Given the description of an element on the screen output the (x, y) to click on. 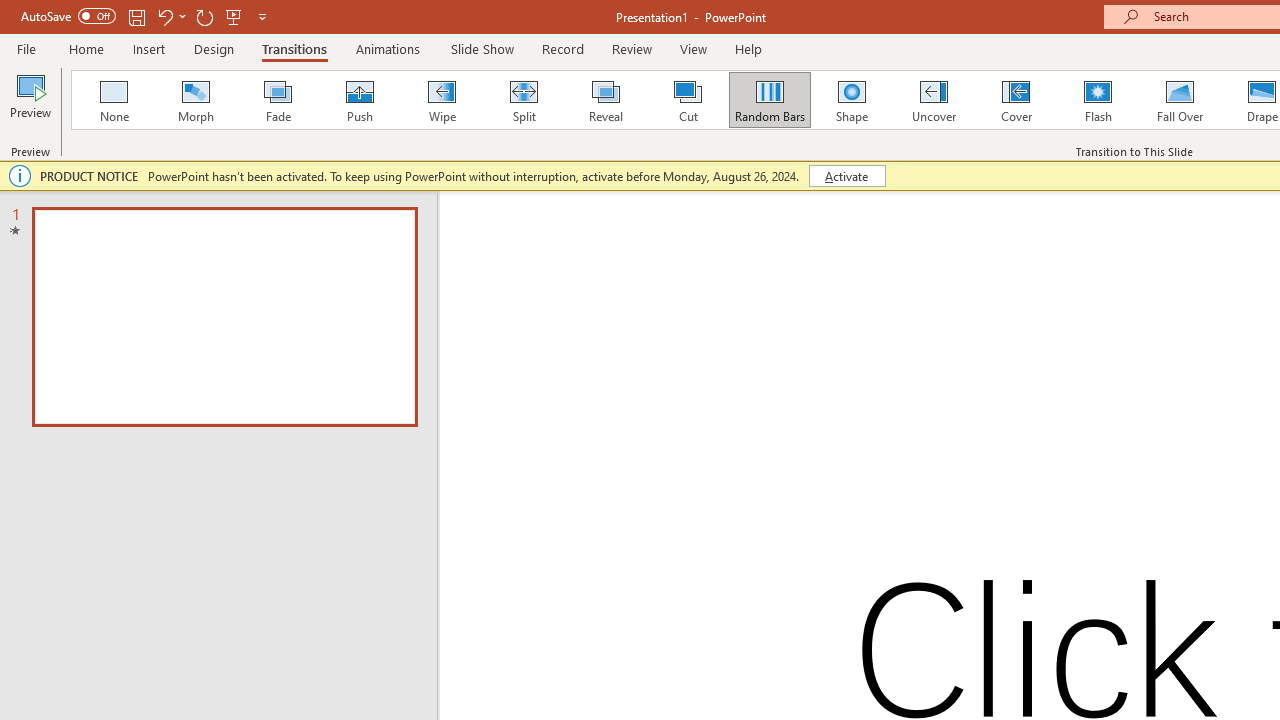
Uncover (934, 100)
Wipe (441, 100)
None (113, 100)
Activate (846, 175)
Fall Over (1180, 100)
Split (523, 100)
Morph (195, 100)
Reveal (605, 100)
